Given the description of an element on the screen output the (x, y) to click on. 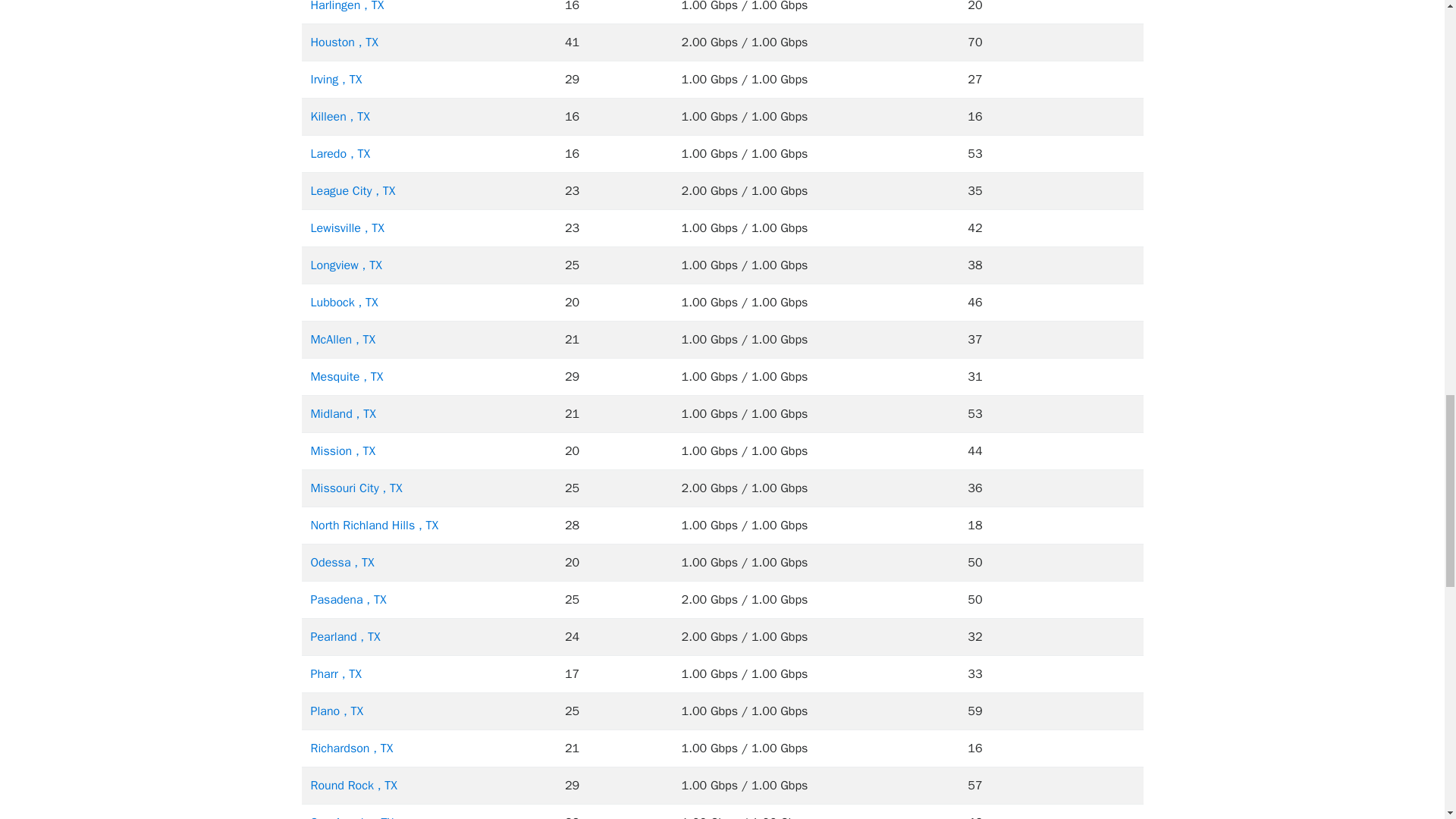
Laredo , TX (341, 153)
Mesquite , TX (347, 376)
Irving , TX (336, 79)
Killeen , TX (340, 116)
Longview , TX (346, 264)
League City , TX (353, 191)
Lubbock , TX (344, 302)
Harlingen , TX (347, 6)
Mission , TX (343, 450)
McAllen , TX (343, 339)
Lewisville , TX (347, 227)
Midland , TX (343, 413)
Houston , TX (344, 42)
